Given the description of an element on the screen output the (x, y) to click on. 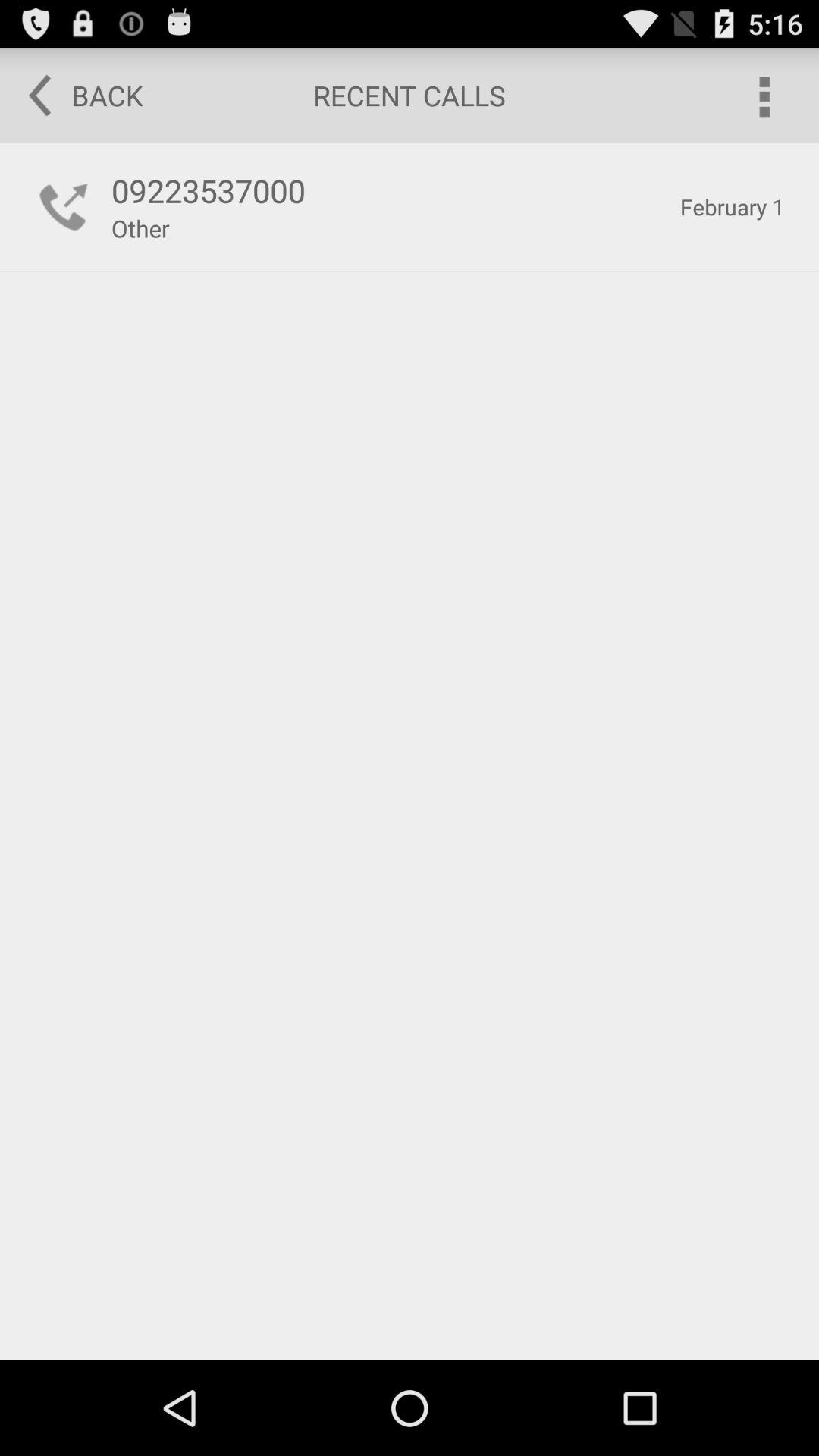
options menu (763, 95)
